Given the description of an element on the screen output the (x, y) to click on. 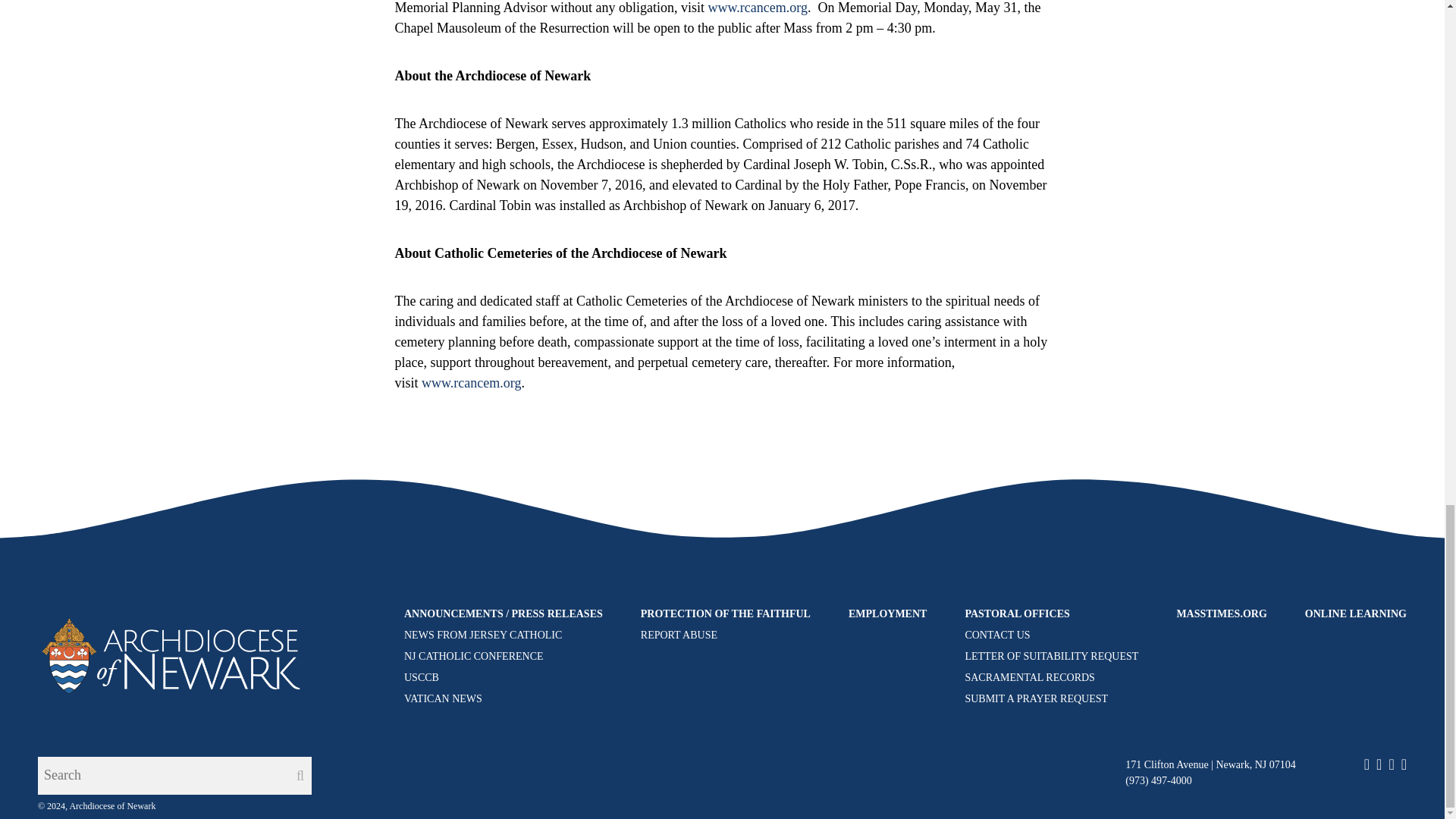
LETTER OF SUITABILITY REQUEST (1050, 655)
CONTACT US (996, 634)
PROTECTION OF THE FAITHFUL (725, 613)
www.rcancem.org (756, 7)
SACRAMENTAL RECORDS (1028, 677)
Previous (428, 506)
MASSTIMES.ORG (1221, 613)
USCCB (421, 677)
NEWS FROM JERSEY CATHOLIC (483, 634)
SUBMIT A PRAYER REQUEST (1035, 698)
